Given the description of an element on the screen output the (x, y) to click on. 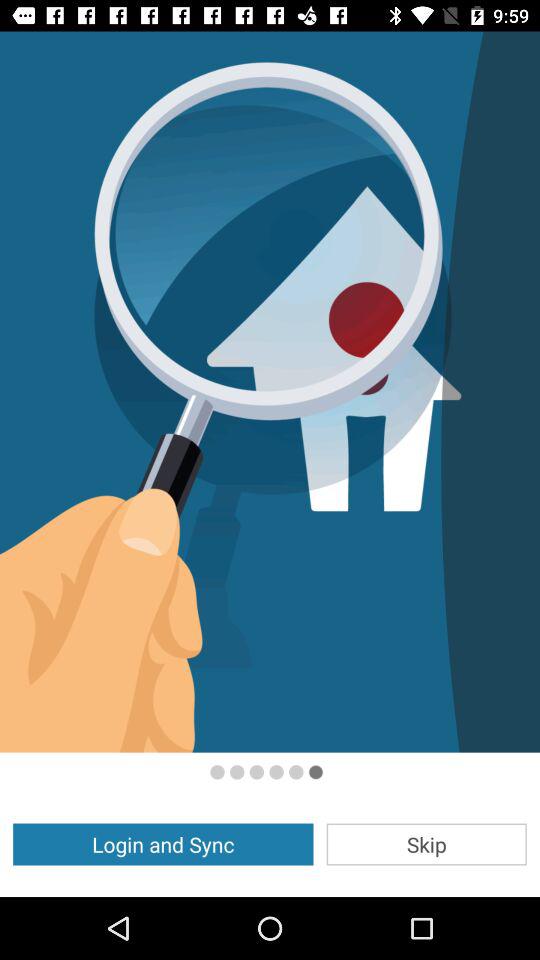
choose the app next to the login and sync (426, 844)
